Given the description of an element on the screen output the (x, y) to click on. 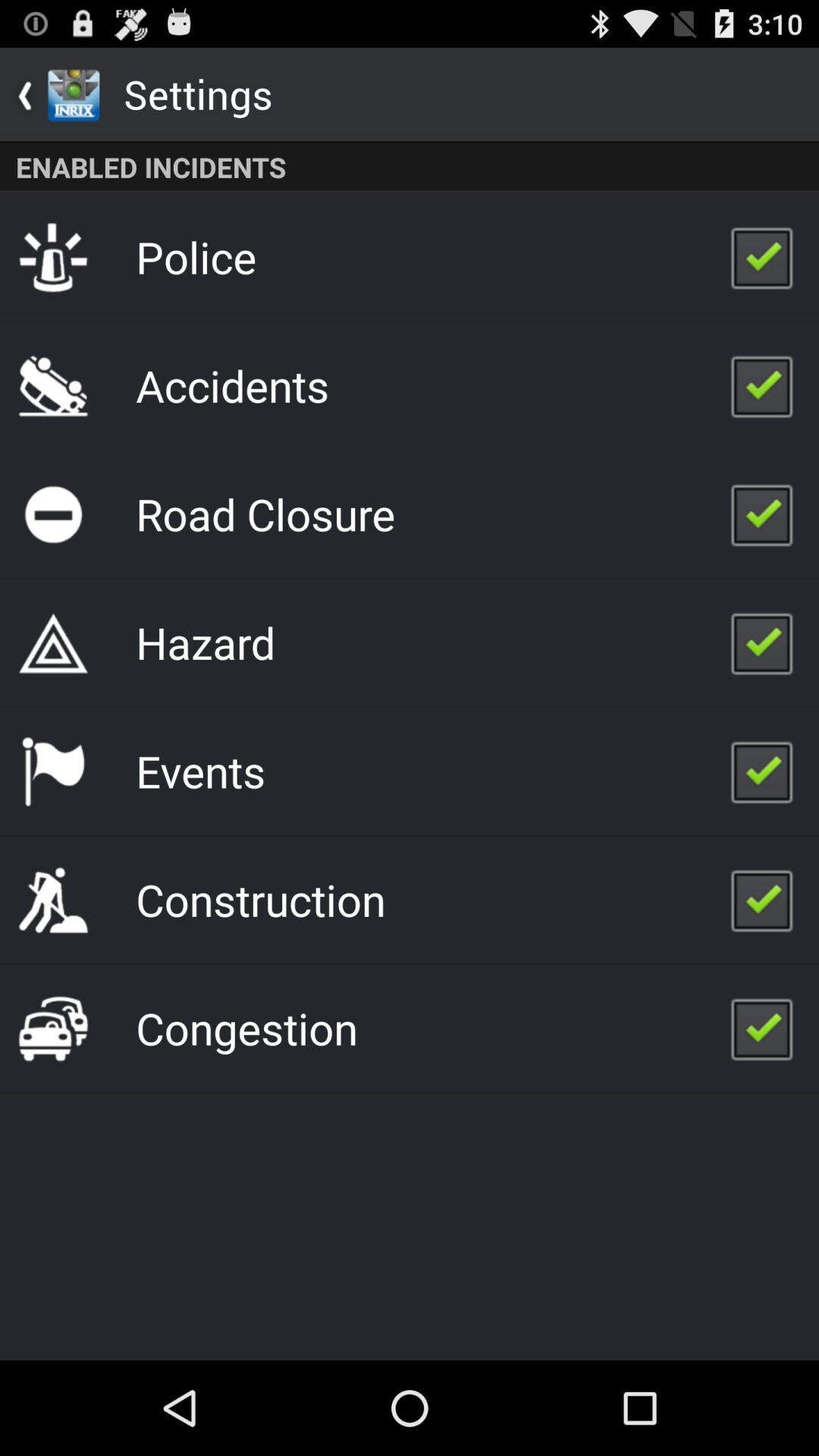
scroll until accidents icon (232, 385)
